Given the description of an element on the screen output the (x, y) to click on. 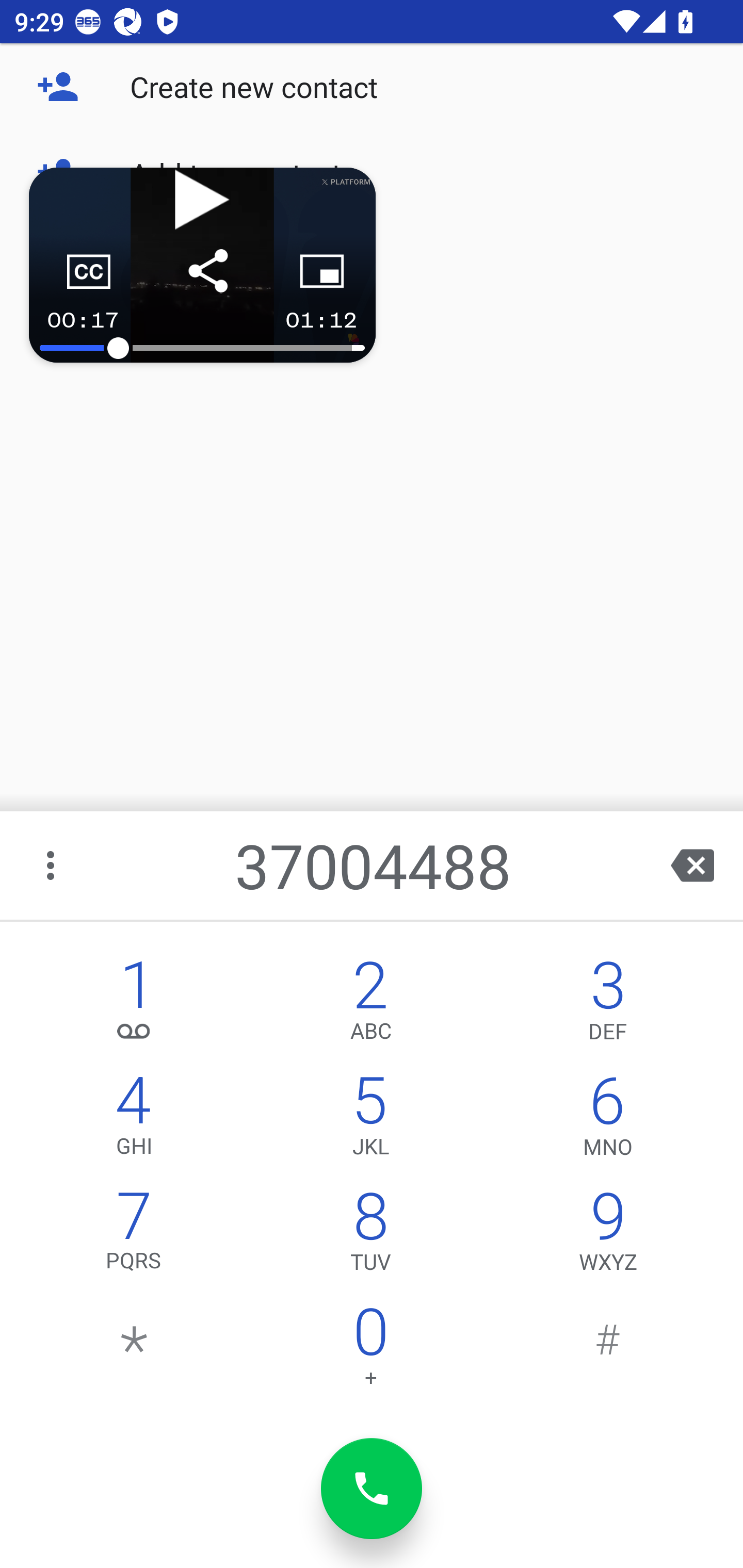
Create new contact (371, 86)
37004488 (372, 865)
backspace (692, 865)
More options (52, 865)
1, 1 (133, 1005)
2,ABC 2 ABC (370, 1005)
3,DEF 3 DEF (607, 1005)
4,GHI 4 GHI (133, 1120)
5,JKL 5 JKL (370, 1120)
6,MNO 6 MNO (607, 1120)
7,PQRS 7 PQRS (133, 1235)
8,TUV 8 TUV (370, 1235)
9,WXYZ 9 WXYZ (607, 1235)
* (133, 1351)
0 0 + (370, 1351)
# (607, 1351)
dial (371, 1488)
